Given the description of an element on the screen output the (x, y) to click on. 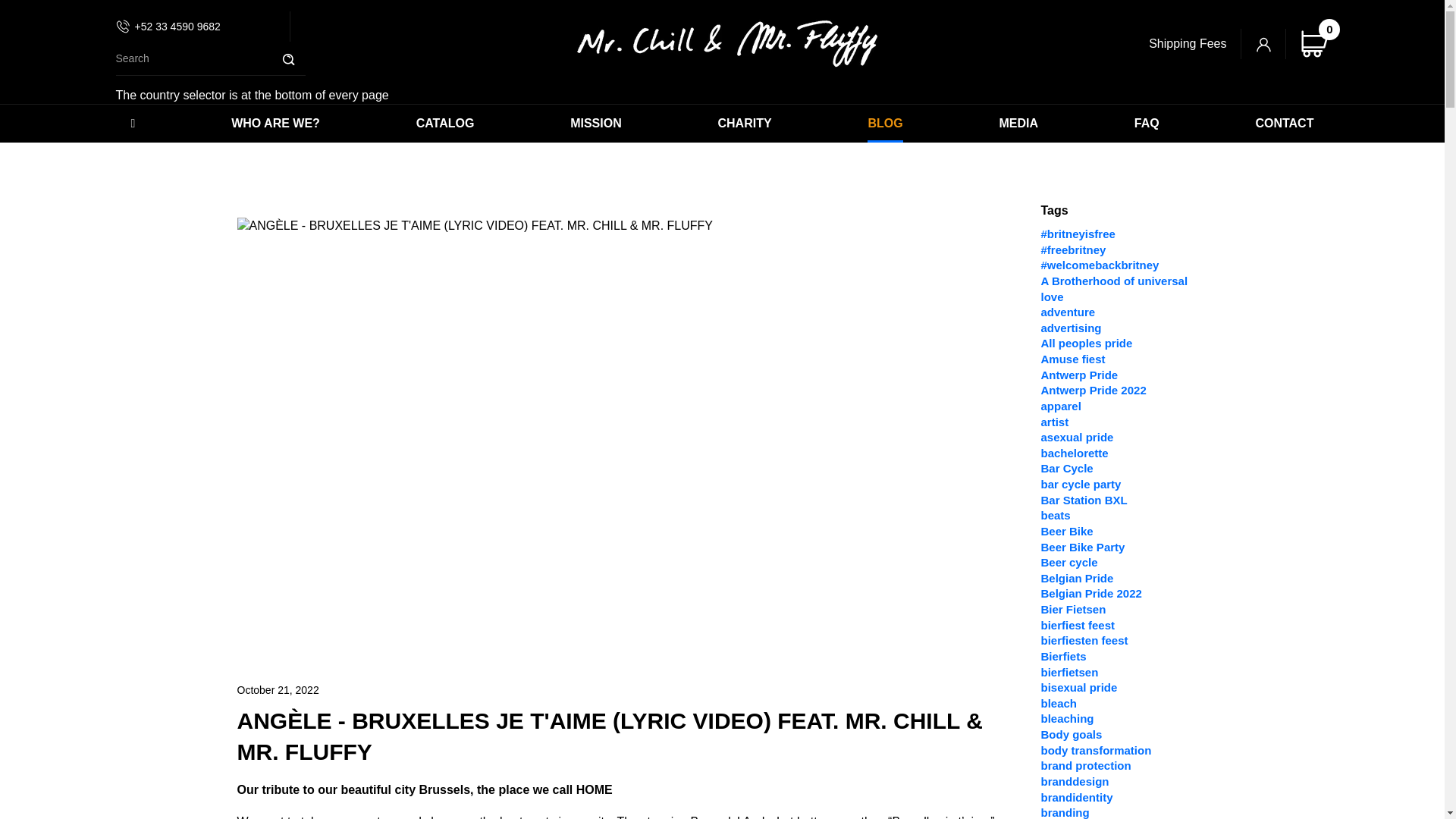
Show articles tagged All peoples pride (1086, 342)
CATALOG (445, 123)
Show articles tagged bachelorette (1074, 452)
Show articles tagged artist (1054, 421)
Show articles tagged A Brotherhood of universal love (1114, 288)
Show articles tagged advertising (1070, 327)
Search (287, 58)
Show articles tagged Antwerp Pride 2022 (1093, 390)
MISSION (595, 123)
Show articles tagged Antwerp Pride (1079, 374)
